Given the description of an element on the screen output the (x, y) to click on. 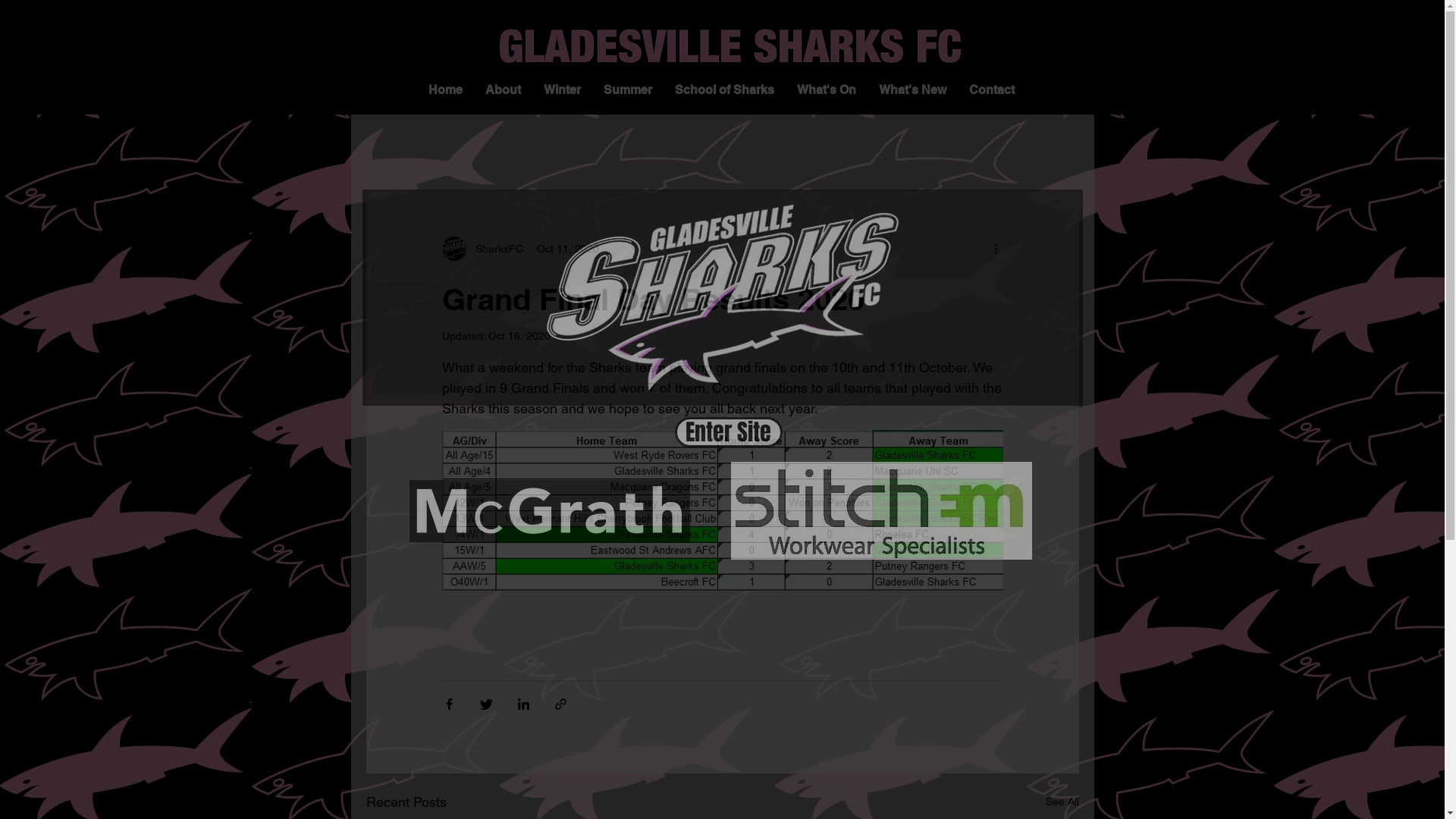
See All Element type: text (1061, 801)
Home Element type: text (445, 89)
About Element type: text (502, 89)
SharksFC Element type: text (481, 248)
What's On Element type: text (826, 89)
Summer Element type: text (627, 89)
Contact Element type: text (991, 89)
What's New Element type: text (912, 89)
School of Sharks Element type: text (724, 89)
Winter Element type: text (562, 89)
